Given the description of an element on the screen output the (x, y) to click on. 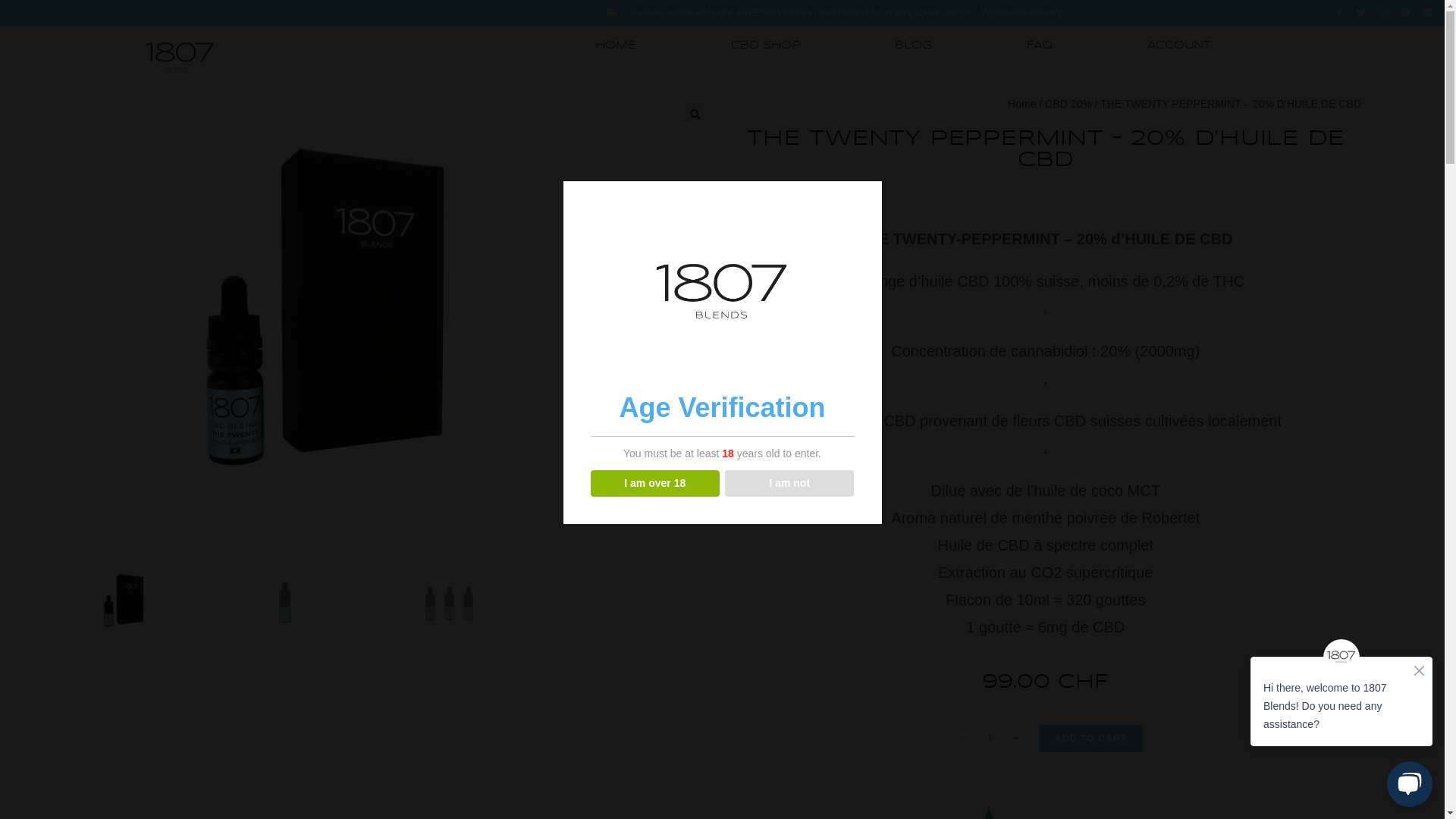
I am over 18 Element type: text (655, 483)
Home Element type: text (1021, 103)
I am not Element type: text (789, 483)
- Element type: text (961, 738)
CBD SHOP Element type: text (765, 45)
9998 Element type: text (1299, 24)
FAQ Element type: text (1039, 45)
BLOG Element type: text (913, 45)
ACCOUNT Element type: text (1179, 45)
HOME Element type: text (615, 45)
CBD 20% Element type: text (1067, 103)
+ Element type: text (1016, 738)
ADD TO CART Element type: text (1090, 738)
